Given the description of an element on the screen output the (x, y) to click on. 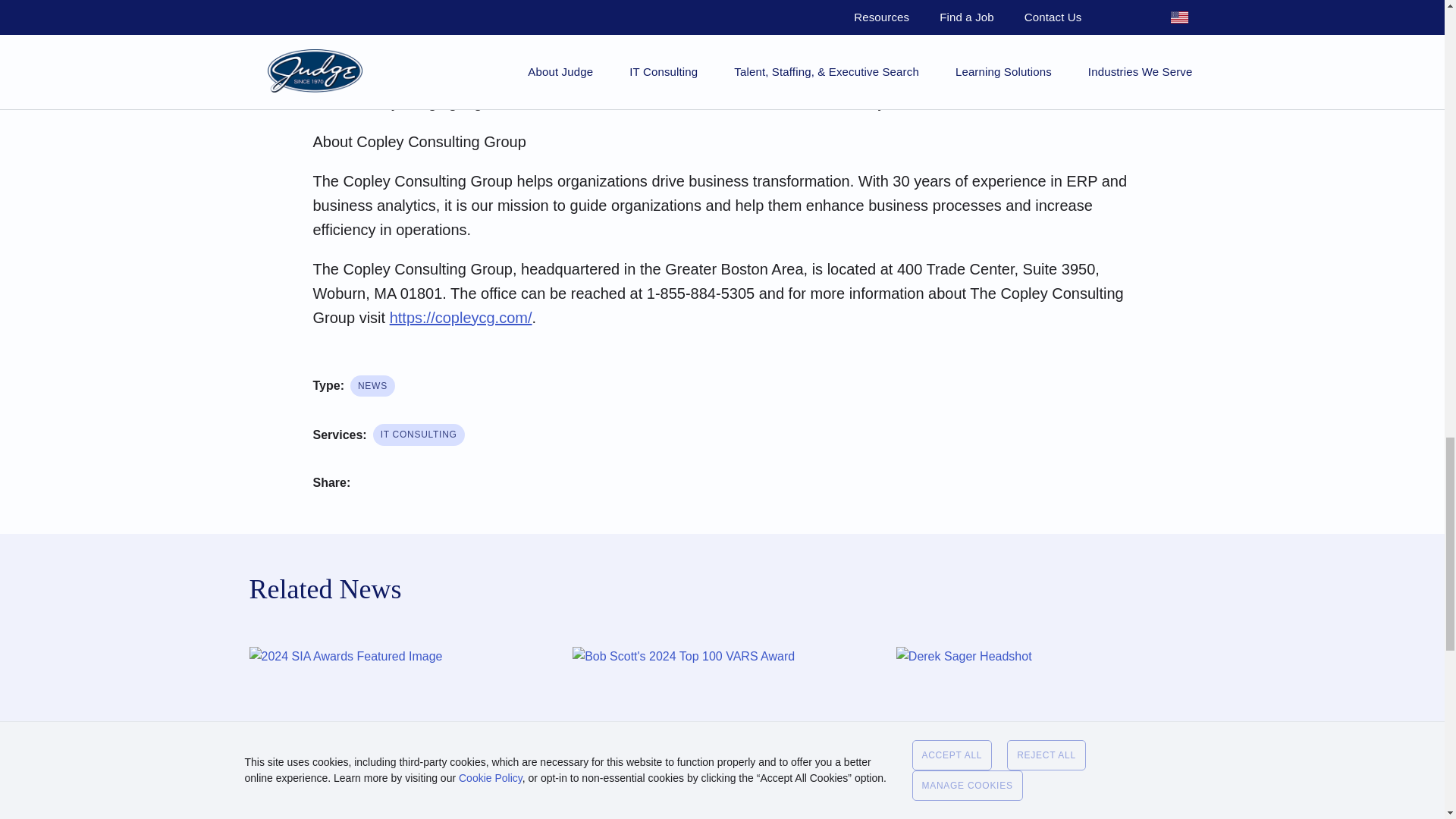
Email (510, 484)
Twitter (419, 484)
Facebook (374, 484)
LinkedIn (465, 484)
